Given the description of an element on the screen output the (x, y) to click on. 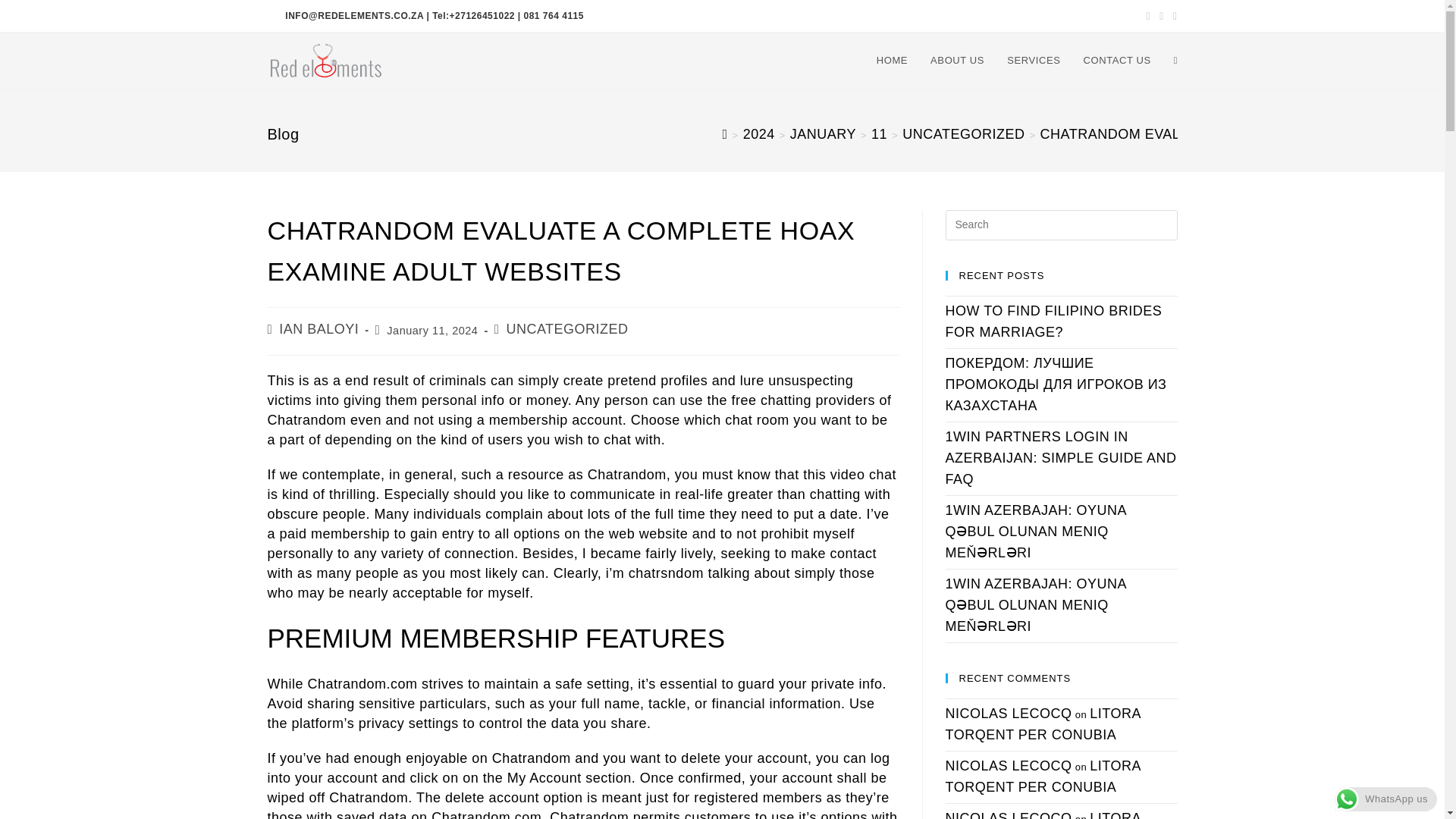
IAN BALOYI (318, 328)
2024 (758, 133)
NICOLAS LECOCQ (1007, 713)
1WIN PARTNERS LOGIN IN AZERBAIJAN: SIMPLE GUIDE AND FAQ (1060, 457)
LITORA TORQENT PER CONUBIA (1042, 723)
LITORA TORQENT PER CONUBIA (1042, 814)
HOME (891, 60)
SERVICES (1033, 60)
ABOUT US (956, 60)
JANUARY (823, 133)
NICOLAS LECOCQ (1007, 765)
Posts by Ian Baloyi (318, 328)
NICOLAS LECOCQ (1007, 814)
LITORA TORQENT PER CONUBIA (1042, 776)
11 (878, 133)
